Given the description of an element on the screen output the (x, y) to click on. 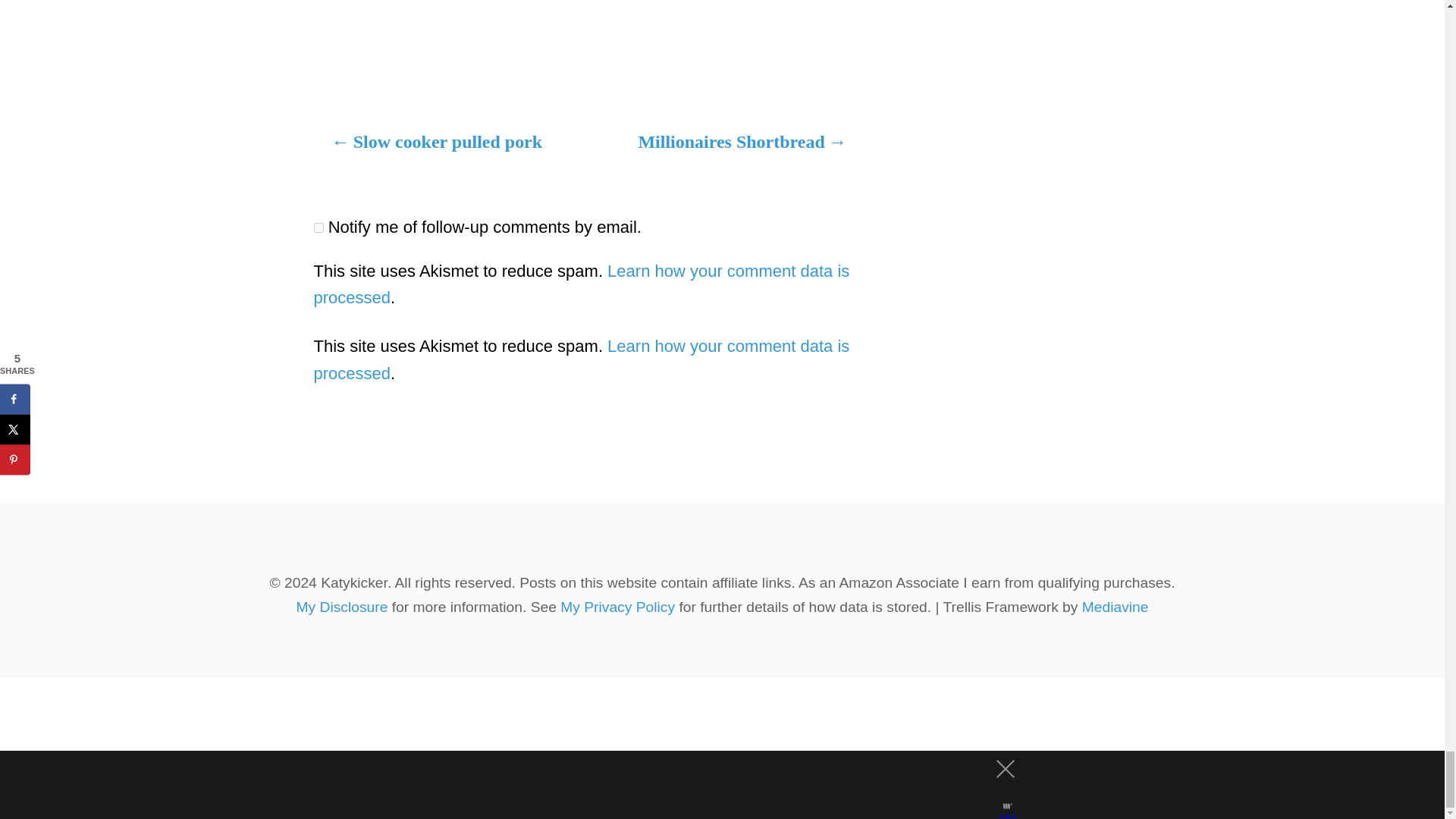
subscribe (318, 227)
